Given the description of an element on the screen output the (x, y) to click on. 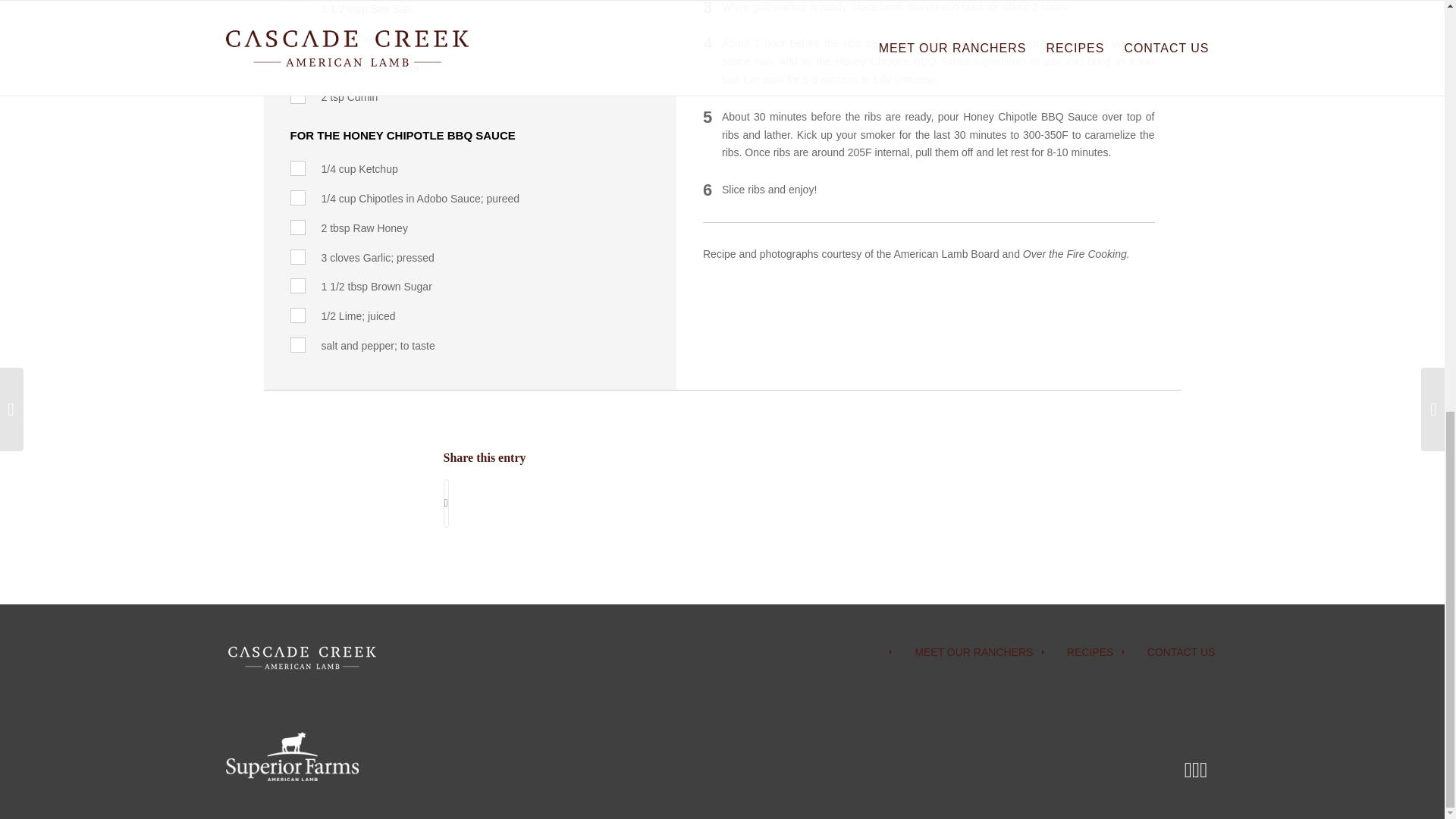
CONTACT US (1169, 652)
MEET OUR RANCHERS (961, 652)
RECIPES (1078, 652)
